Given the description of an element on the screen output the (x, y) to click on. 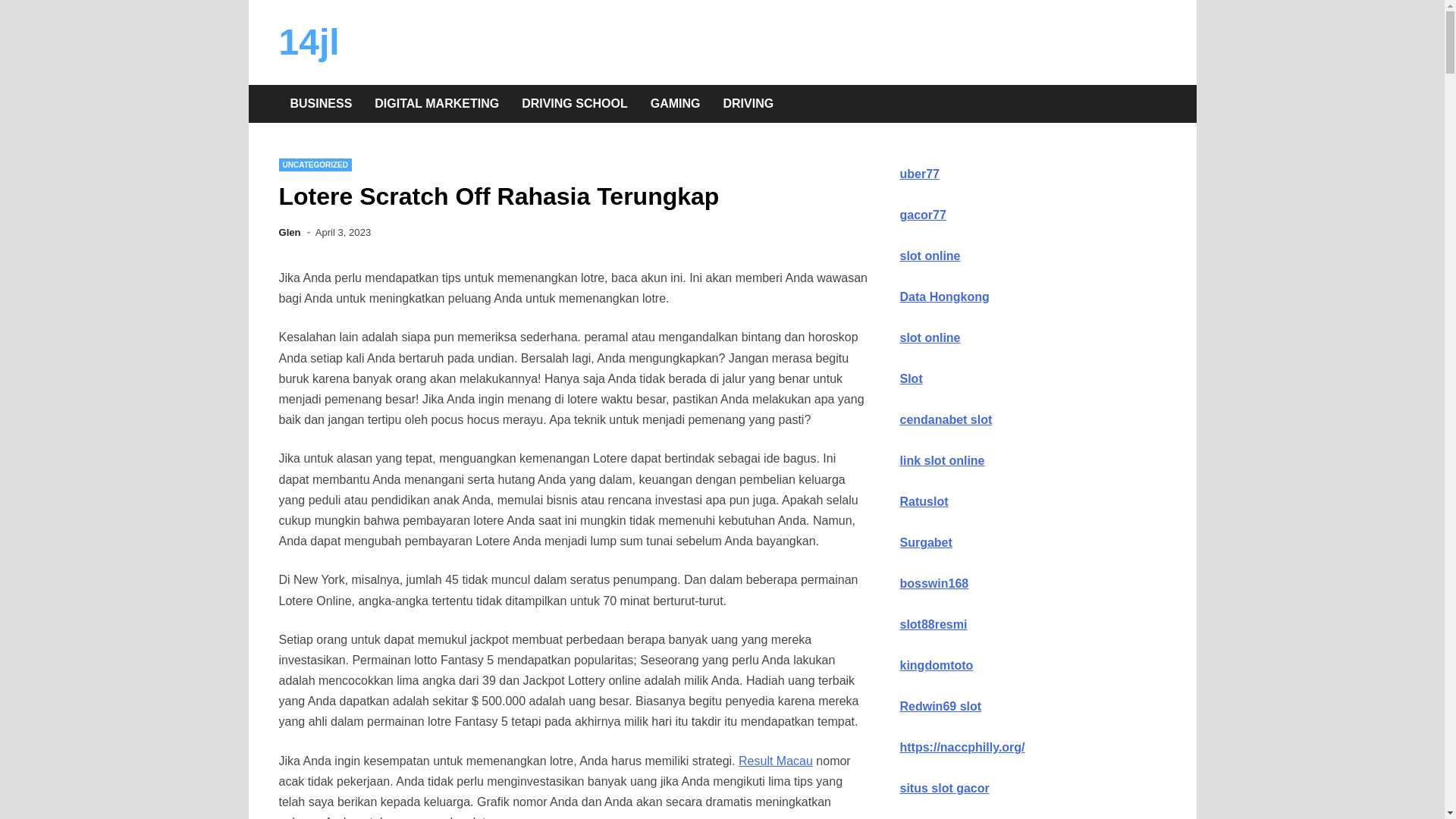
cendanabet slot Element type: text (945, 419)
situs slot gacor Element type: text (943, 787)
14jl Element type: text (309, 41)
DRIVING SCHOOL Element type: text (574, 103)
Result Macau Element type: text (775, 760)
Redwin69 slot Element type: text (940, 705)
Ratuslot Element type: text (923, 501)
GAMING Element type: text (675, 103)
bosswin168 Element type: text (933, 583)
https://naccphilly.org/ Element type: text (961, 746)
uber77 Element type: text (918, 173)
slot online Element type: text (929, 255)
Surgabet Element type: text (925, 542)
DIGITAL MARKETING Element type: text (436, 103)
DRIVING Element type: text (747, 103)
kingdomtoto Element type: text (935, 664)
Data Hongkong Element type: text (943, 296)
UNCATEGORIZED Element type: text (315, 164)
Glen Element type: text (290, 232)
gacor77 Element type: text (922, 214)
BUSINESS Element type: text (321, 103)
link slot online Element type: text (941, 460)
April 3, 2023 Element type: text (343, 232)
Slot Element type: text (910, 378)
slot88resmi Element type: text (932, 624)
slot online Element type: text (929, 337)
